Given the description of an element on the screen output the (x, y) to click on. 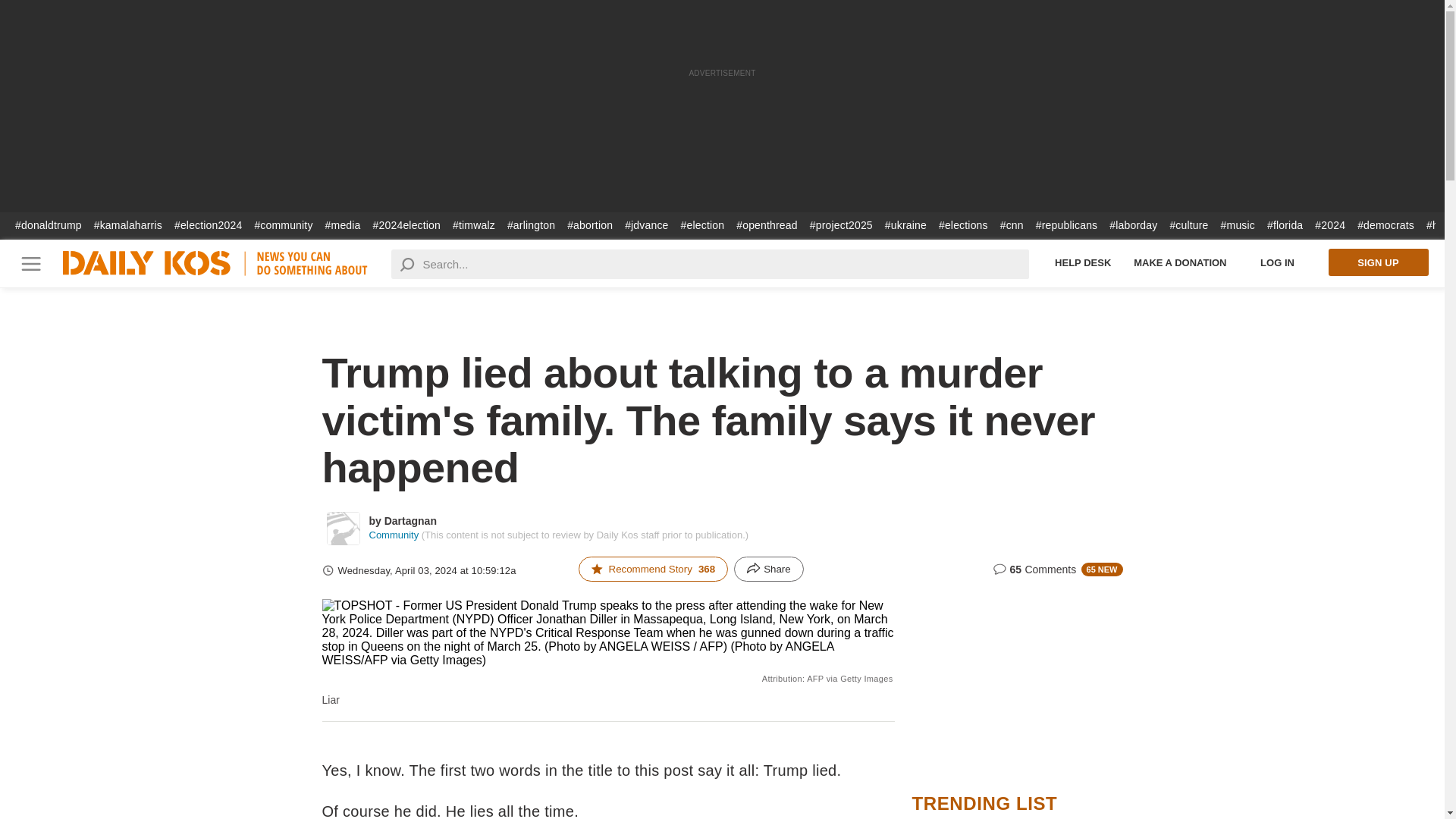
Help Desk (1082, 262)
MAKE A DONATION (1179, 262)
Make a Donation (1179, 262)
